Given the description of an element on the screen output the (x, y) to click on. 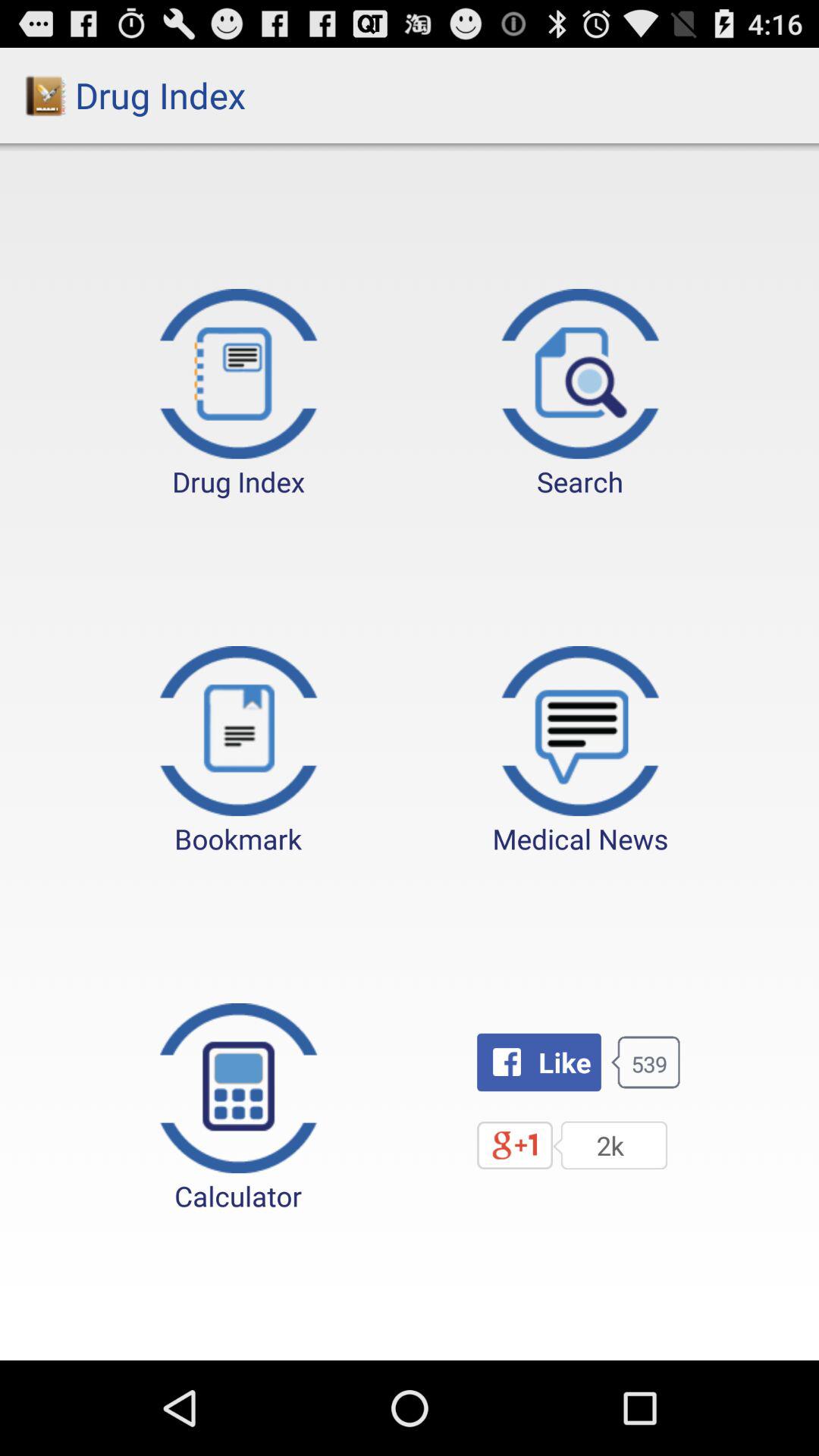
turn on icon above the like icon (580, 751)
